Given the description of an element on the screen output the (x, y) to click on. 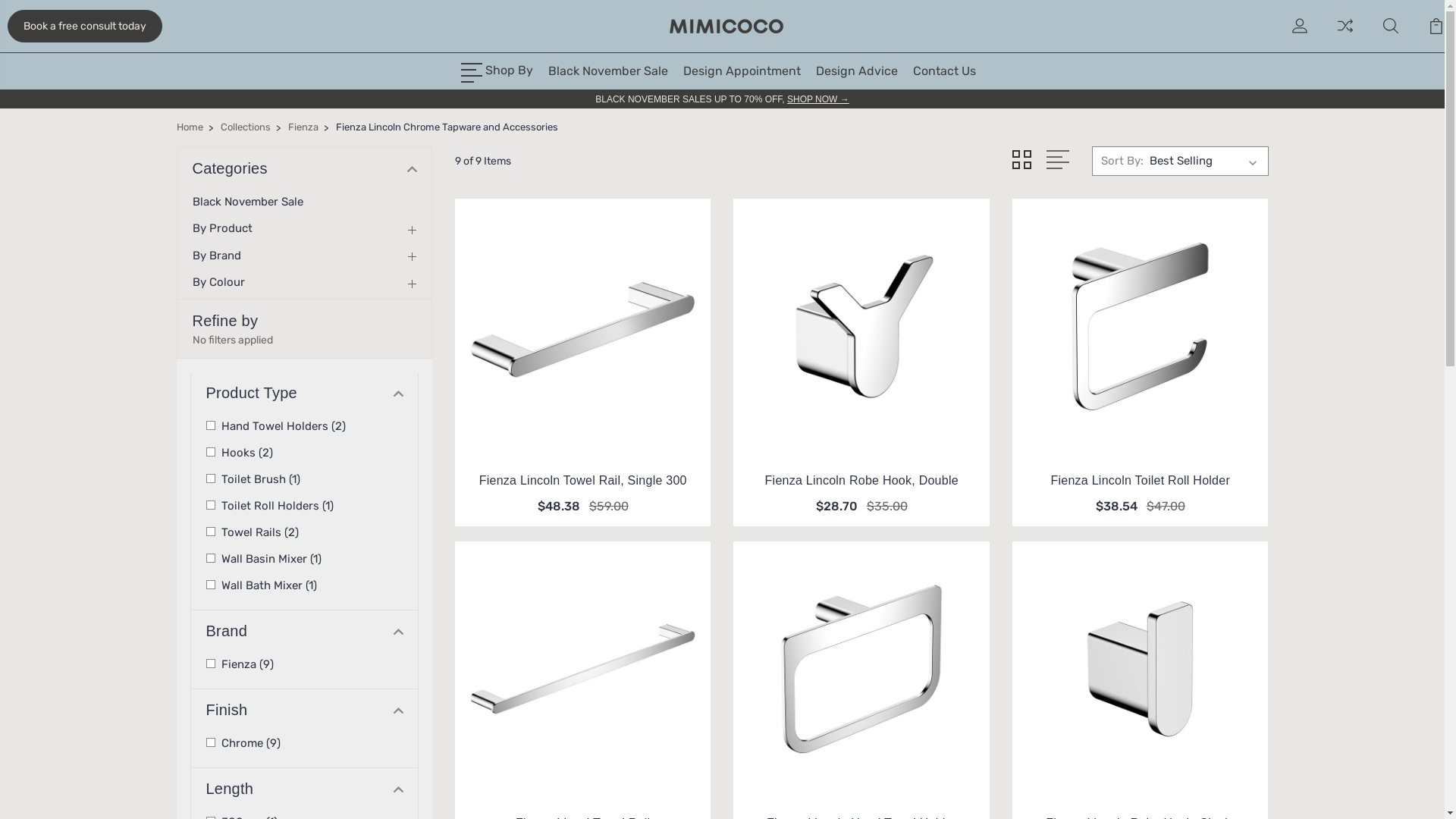
Fienza Lincoln Towel Rail, Single 300 Element type: text (583, 479)
Fienza Lincoln Toilet Roll Holder Element type: text (1140, 479)
Chrome (9) Element type: text (304, 742)
Fienza Element type: text (303, 126)
Fienza Fienza Lincoln Robe Hook, Double Element type: hover (860, 326)
By Product Element type: text (231, 228)
Fienza Fienza Lincoln Robe Hook, Single Element type: hover (1139, 668)
Fienza Fienza Lincoln Towel Rail, Single 300 Element type: hover (582, 326)
Fienza Fienza Lincoln Toilet Roll Holder Element type: hover (1139, 326)
Hooks (2) Element type: text (304, 452)
Design Advice Element type: text (856, 71)
Towel Rails (2) Element type: text (304, 532)
Shop By Element type: text (497, 71)
Fienza Fienza Lincoln Hand Towel Holder Element type: hover (860, 668)
By Brand Element type: text (226, 255)
Black November Sale Element type: text (257, 201)
Design Appointment Element type: text (741, 71)
Contact Us Element type: text (944, 71)
Toilet Brush (1) Element type: text (304, 479)
Home Element type: text (188, 126)
Hand Towel Holders (2) Element type: text (304, 426)
Black November Sale Element type: text (608, 71)
Compare Element type: hover (1344, 34)
By Colour Element type: text (227, 281)
Toilet Roll Holders (1) Element type: text (304, 505)
Collections Element type: text (244, 126)
Wall Bath Mixer (1) Element type: text (304, 585)
Fienza Lincoln Robe Hook, Double Element type: text (861, 479)
Fienza (9) Element type: text (304, 664)
Book a free consult today Element type: text (84, 25)
Wall Basin Mixer (1) Element type: text (304, 558)
Fienza Fienza Lincol Towel Rail Element type: hover (582, 668)
